Given the description of an element on the screen output the (x, y) to click on. 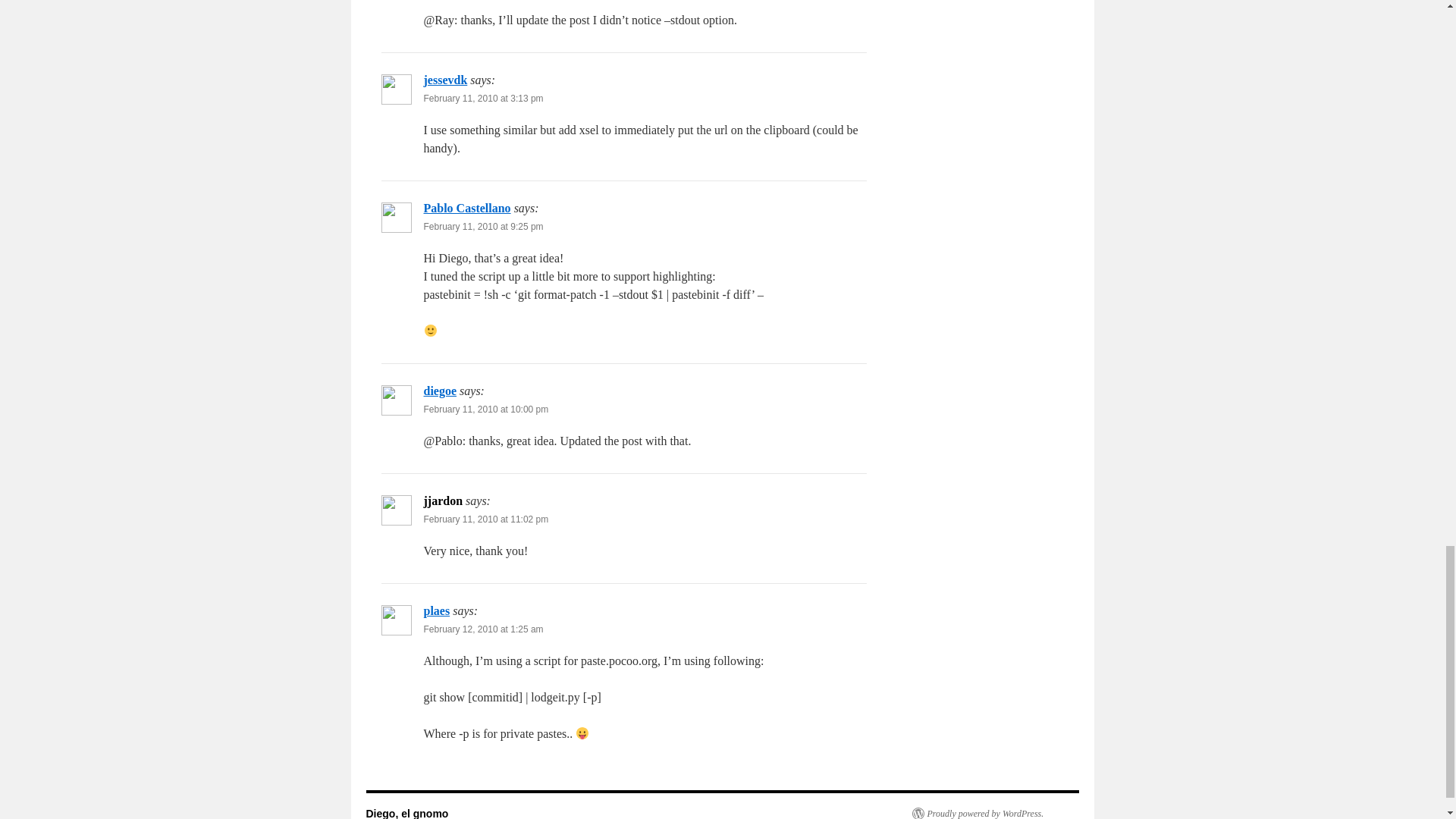
jessevdk (445, 79)
diegoe (440, 390)
plaes (436, 610)
Pablo Castellano (467, 207)
February 11, 2010 at 3:13 pm (483, 98)
February 11, 2010 at 11:02 pm (485, 519)
February 11, 2010 at 9:25 pm (483, 226)
February 11, 2010 at 10:00 pm (485, 409)
